Given the description of an element on the screen output the (x, y) to click on. 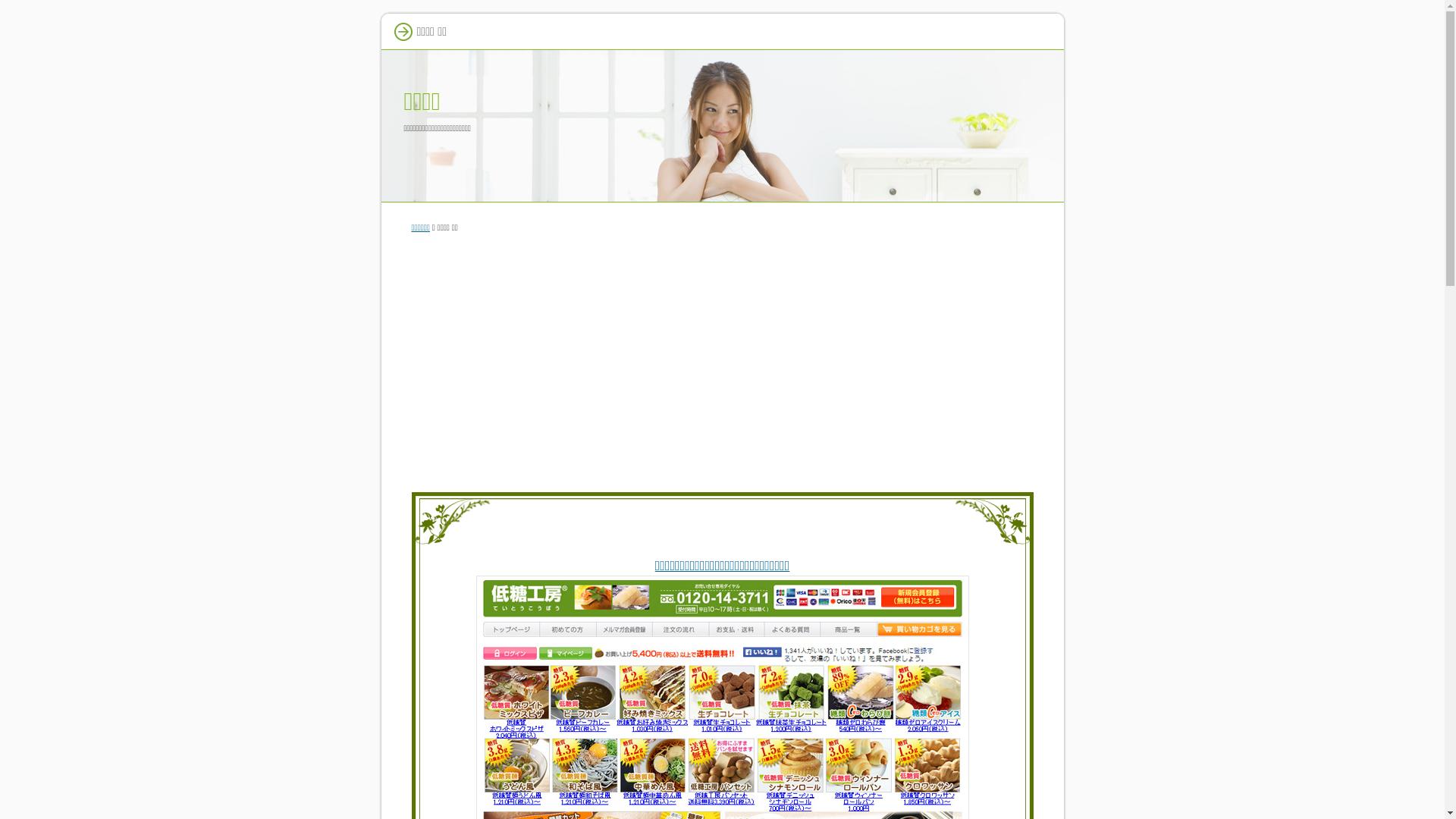
Advertisement Element type: hover (721, 359)
